Given the description of an element on the screen output the (x, y) to click on. 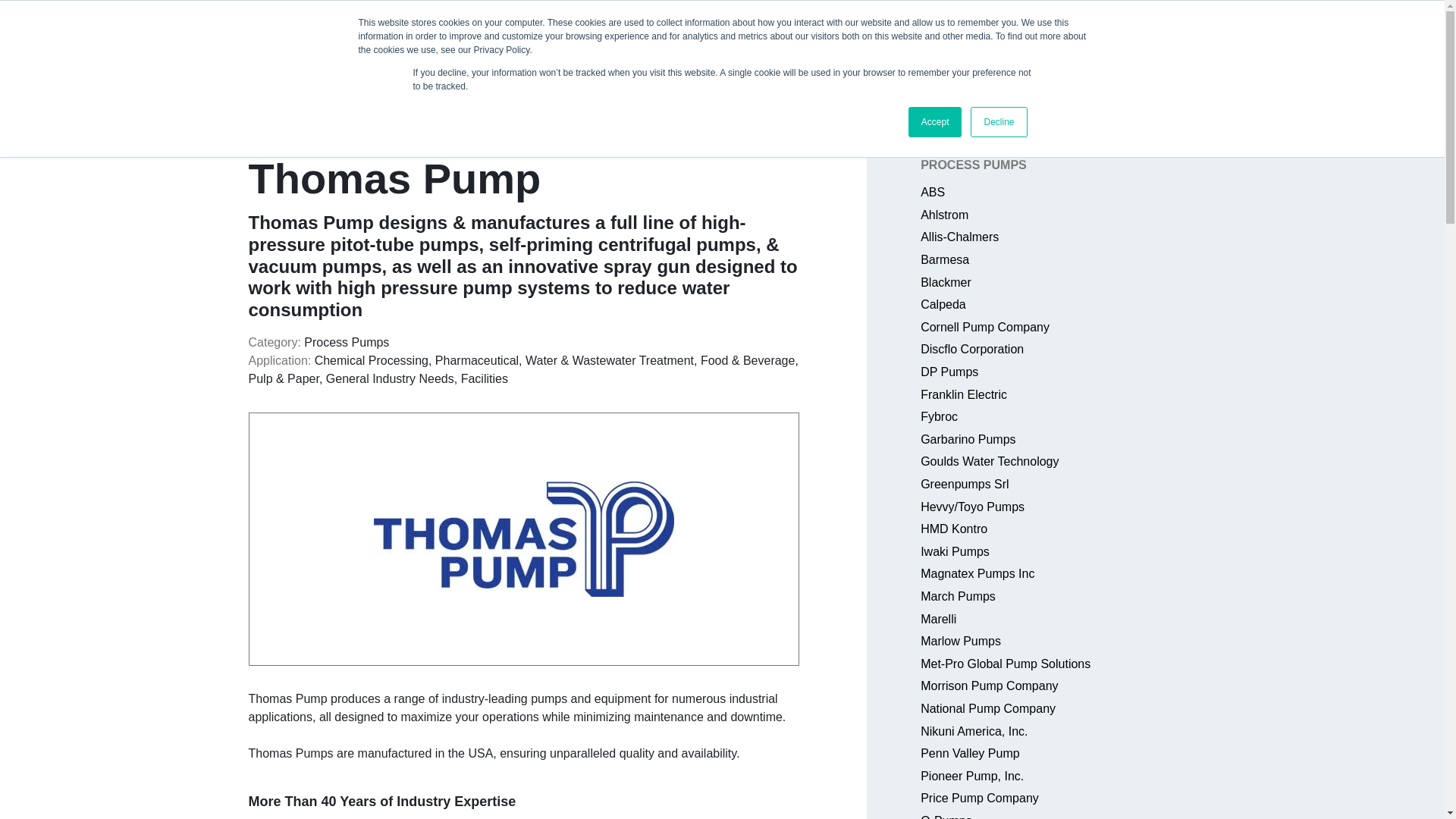
Territories Served (954, 35)
Accept (935, 122)
Decline (998, 122)
